Given the description of an element on the screen output the (x, y) to click on. 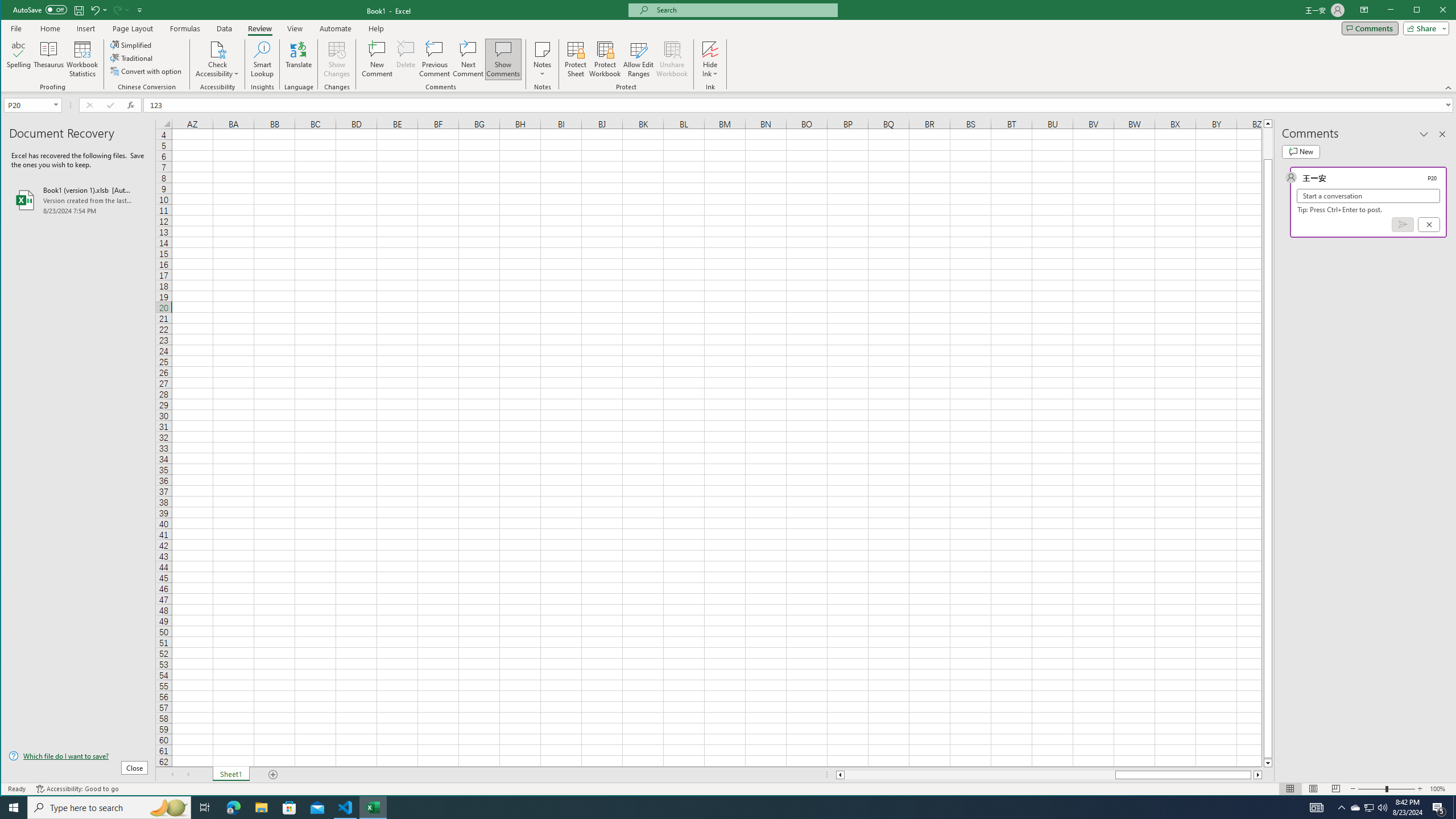
Visual Studio Code - 1 running window (345, 807)
Start (13, 807)
Simplified (132, 44)
Smart Lookup (261, 59)
Type here to search (108, 807)
